Given the description of an element on the screen output the (x, y) to click on. 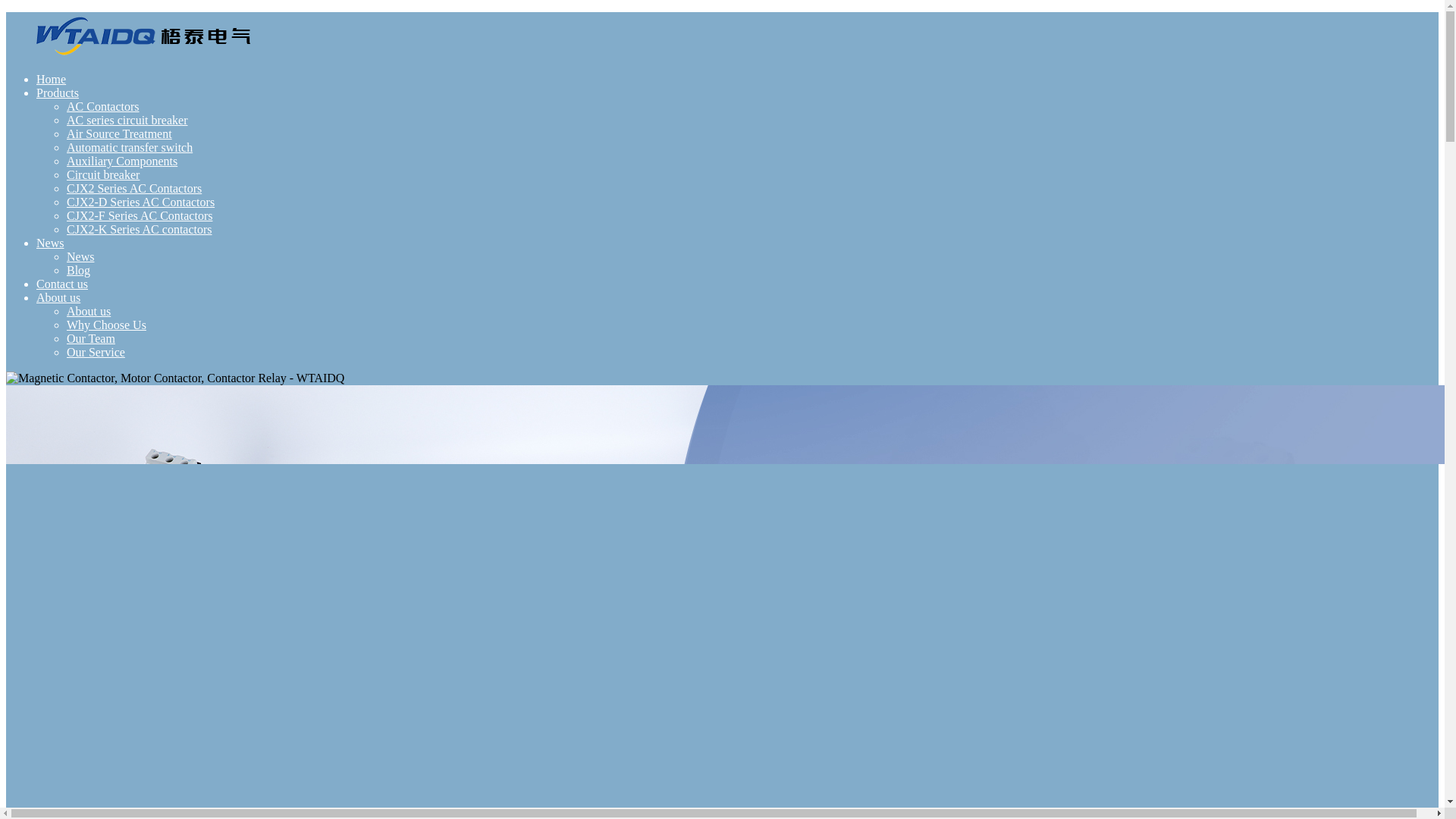
CJX2-D Series AC Contactors (140, 201)
Our Service (95, 351)
Products (57, 92)
Why Choose Us (106, 324)
About us (58, 297)
Air Source Treatment (118, 133)
About us (88, 310)
Circuit breaker (102, 174)
Home (50, 78)
Auxiliary Components (121, 160)
AC series circuit breaker (126, 119)
CJX2 Series AC Contactors (134, 187)
Blog (78, 269)
Contact us (61, 283)
CJX2-K Series AC contactors (139, 228)
